Given the description of an element on the screen output the (x, y) to click on. 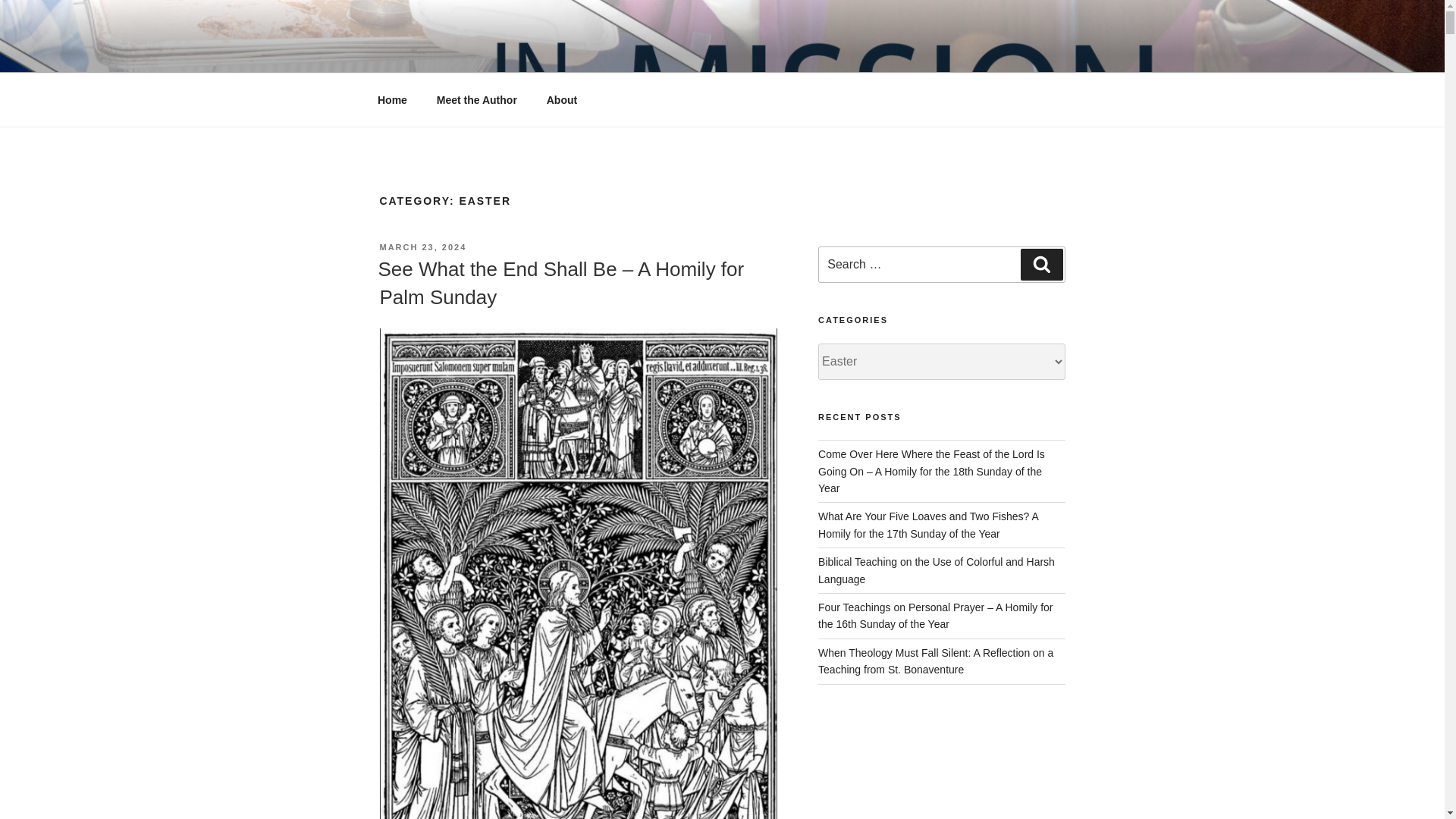
Home (392, 99)
MARCH 23, 2024 (421, 246)
About (560, 99)
COMMUNITY IN MISSION (563, 52)
Search (1041, 264)
Meet the Author (476, 99)
